Given the description of an element on the screen output the (x, y) to click on. 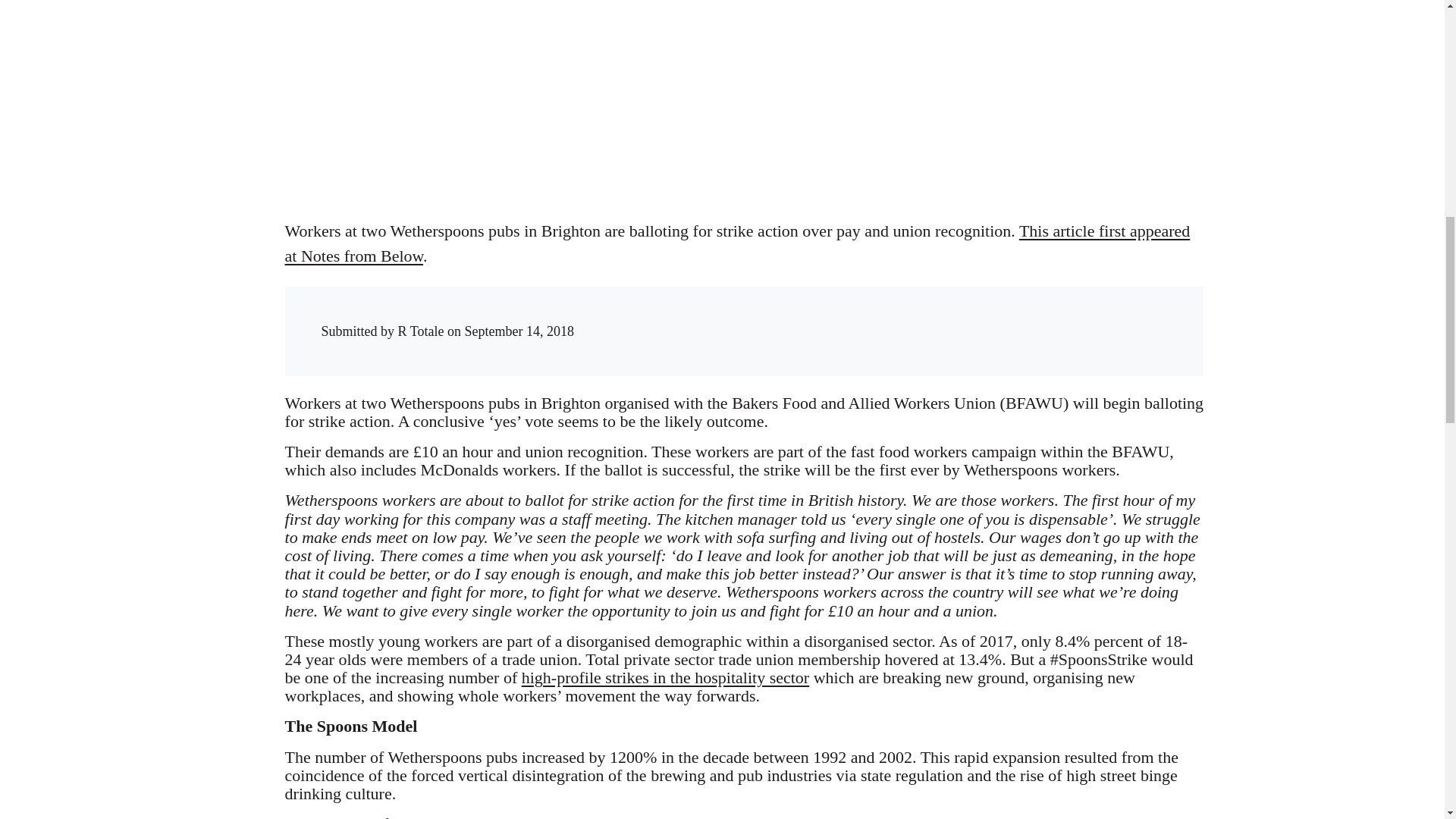
Share to Facebook (914, 316)
high-profile strikes in the hospitality sector (665, 677)
Share to Twitter (945, 316)
This article first appeared at Notes from Below (738, 243)
Share to Reddit (975, 316)
